Given the description of an element on the screen output the (x, y) to click on. 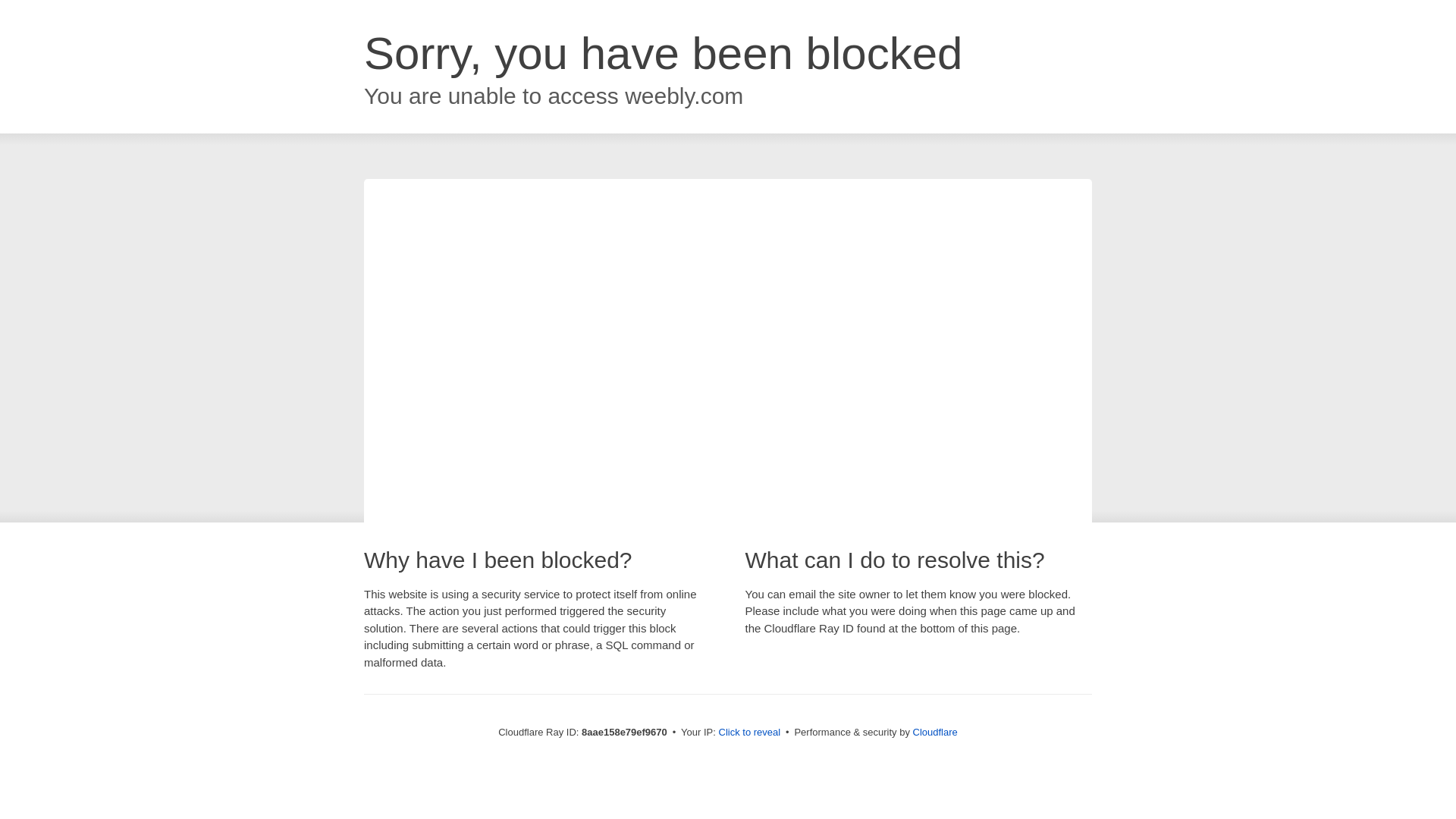
Cloudflare (935, 731)
Click to reveal (749, 732)
